Given the description of an element on the screen output the (x, y) to click on. 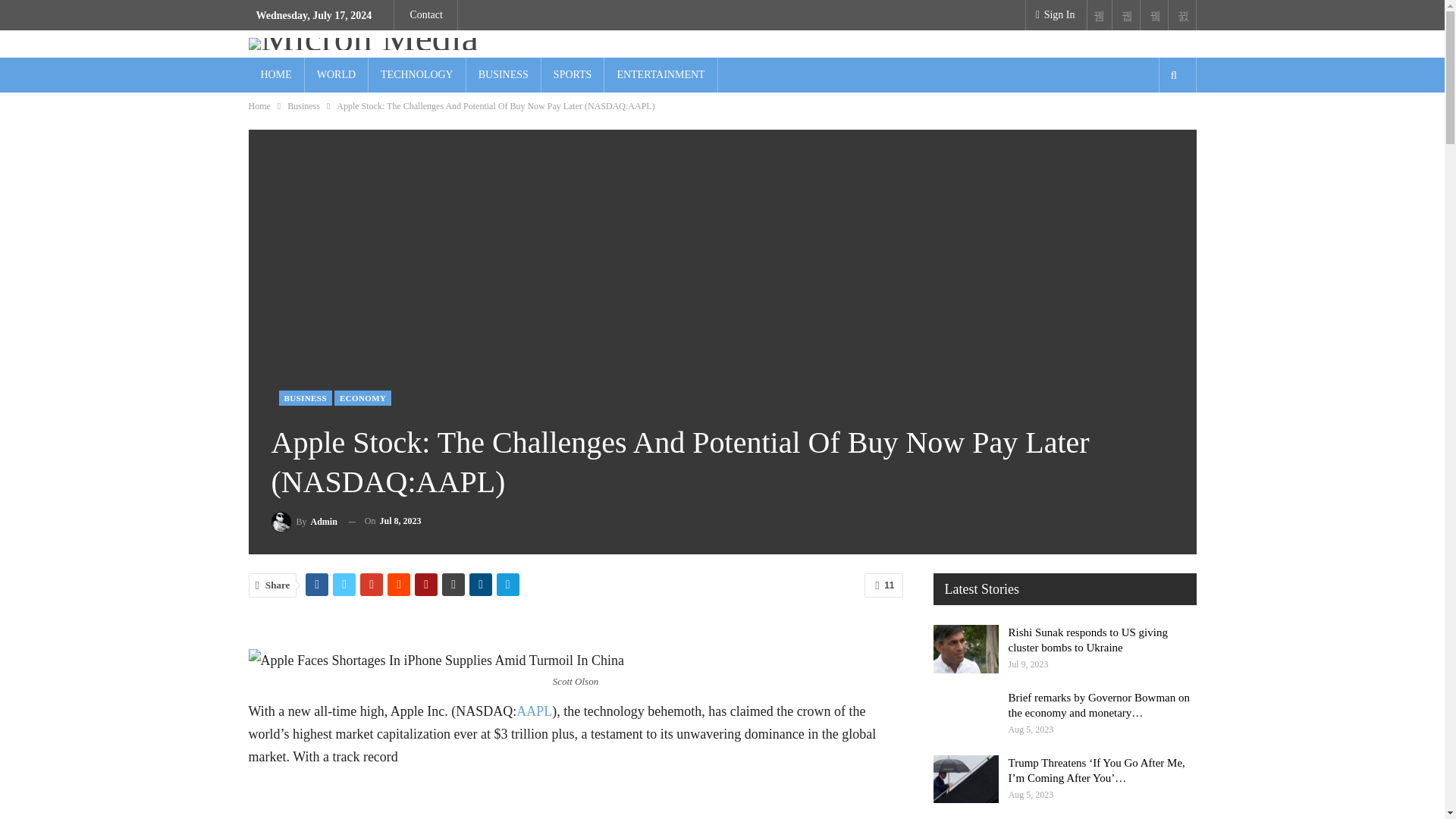
ENTERTAINMENT (660, 74)
Browse Author Articles (303, 521)
Sign In (1052, 15)
TECHNOLOGY (416, 74)
Contact (425, 14)
By Admin (303, 521)
Home (259, 105)
BUSINESS (305, 397)
Rishi Sunak responds to US giving cluster bombs to Ukraine (965, 648)
HOME (276, 74)
SPORTS (572, 74)
WORLD (336, 74)
AAPL (533, 711)
Business (303, 105)
